Given the description of an element on the screen output the (x, y) to click on. 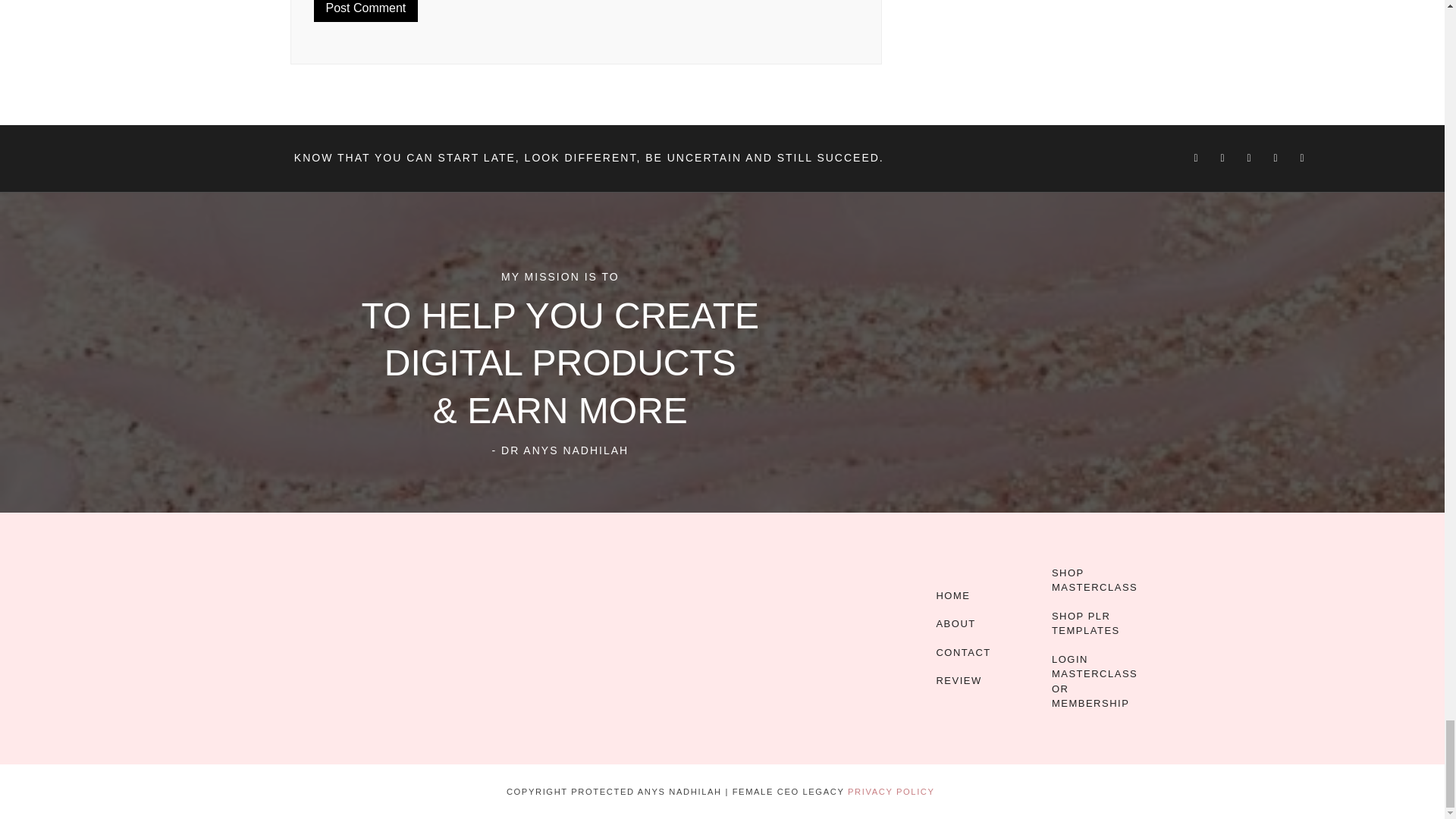
Post Comment (366, 11)
